Given the description of an element on the screen output the (x, y) to click on. 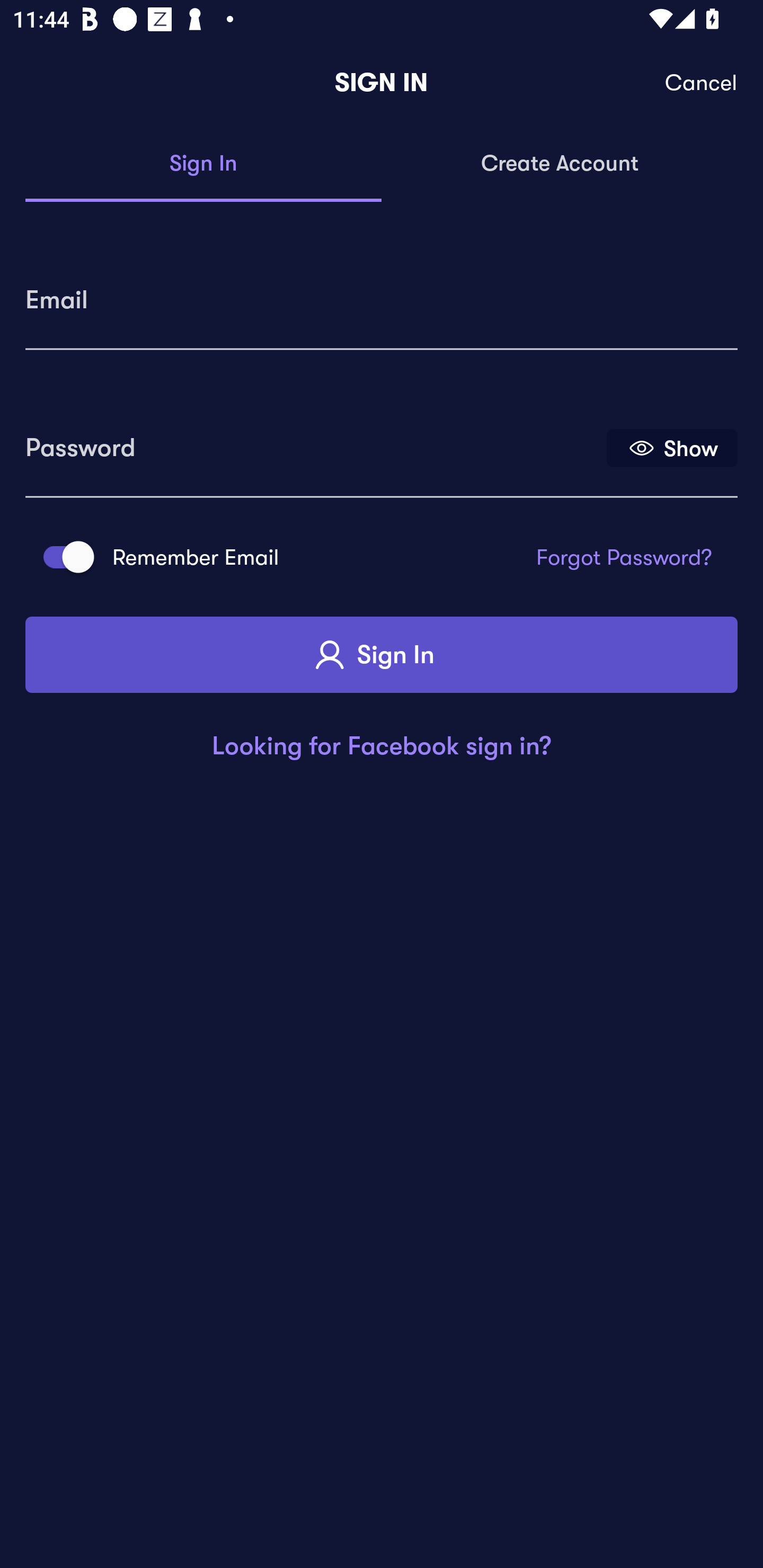
Cancel (701, 82)
Sign In (203, 164)
Create Account (559, 164)
Email (381, 293)
Password (314, 441)
Show Password Show (671, 447)
Remember Email (62, 557)
Sign In (381, 654)
